Given the description of an element on the screen output the (x, y) to click on. 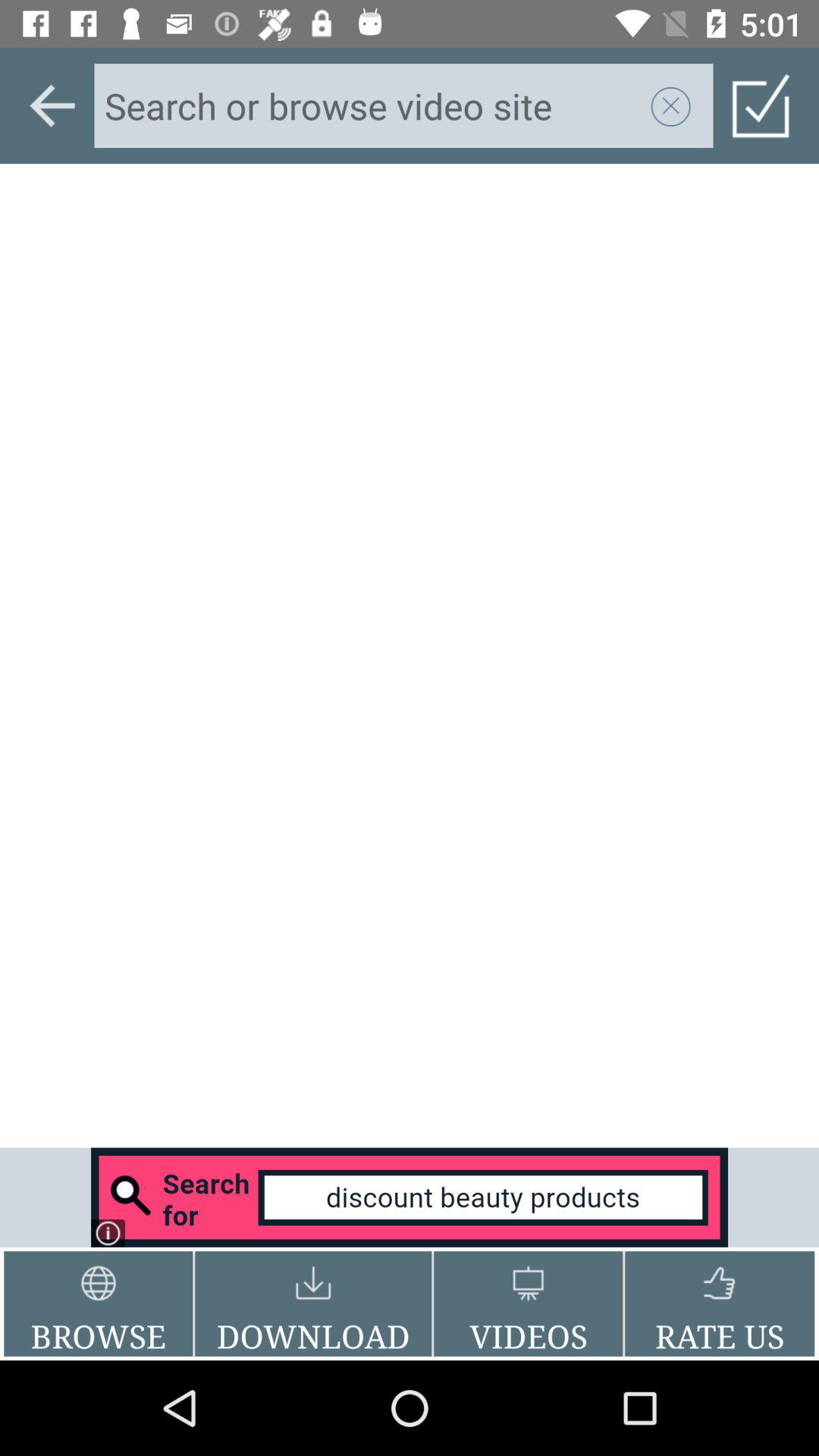
footer banner advertisement (409, 1197)
